Given the description of an element on the screen output the (x, y) to click on. 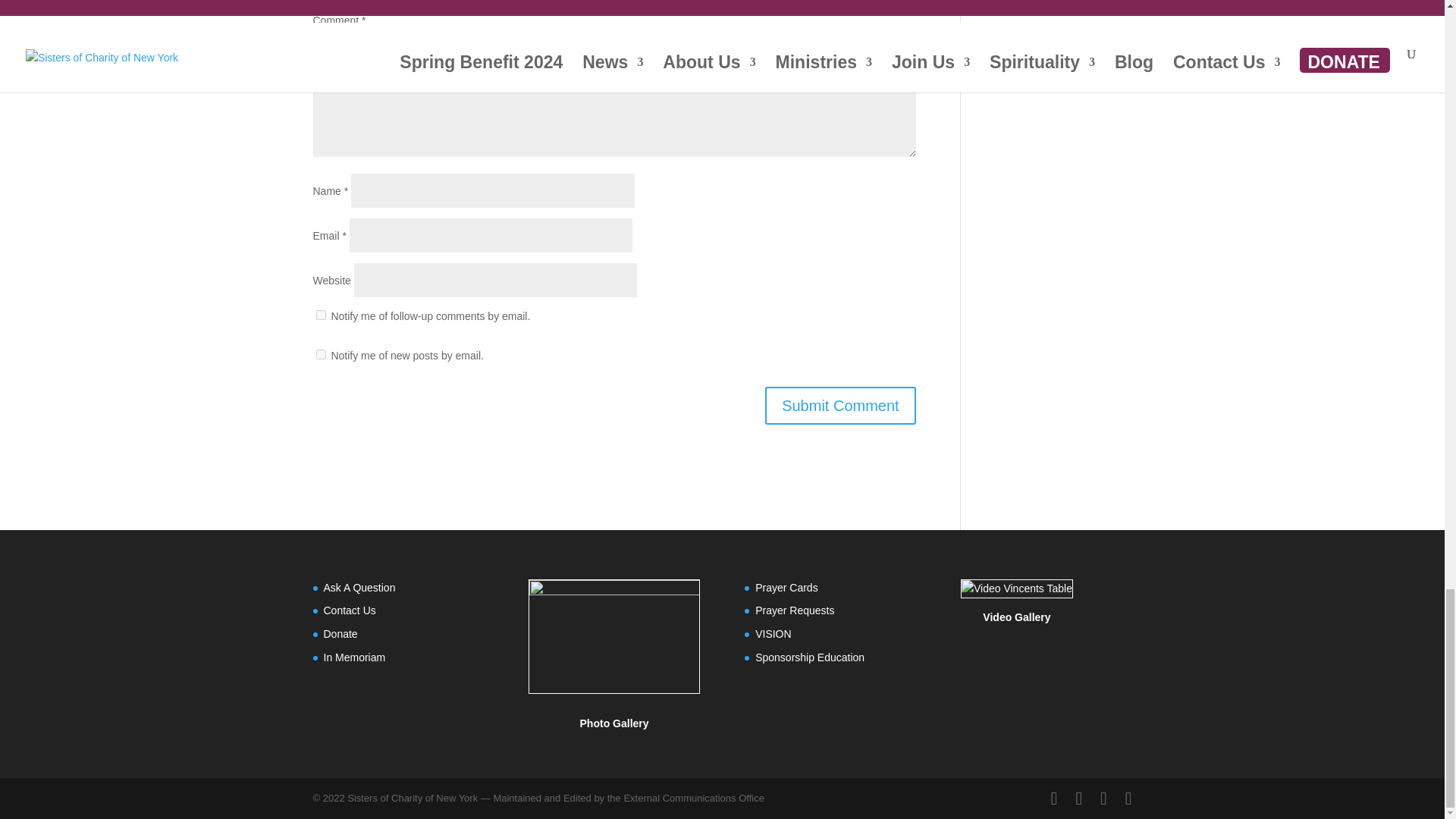
subscribe (319, 354)
subscribe (319, 315)
Submit Comment (840, 405)
